Given the description of an element on the screen output the (x, y) to click on. 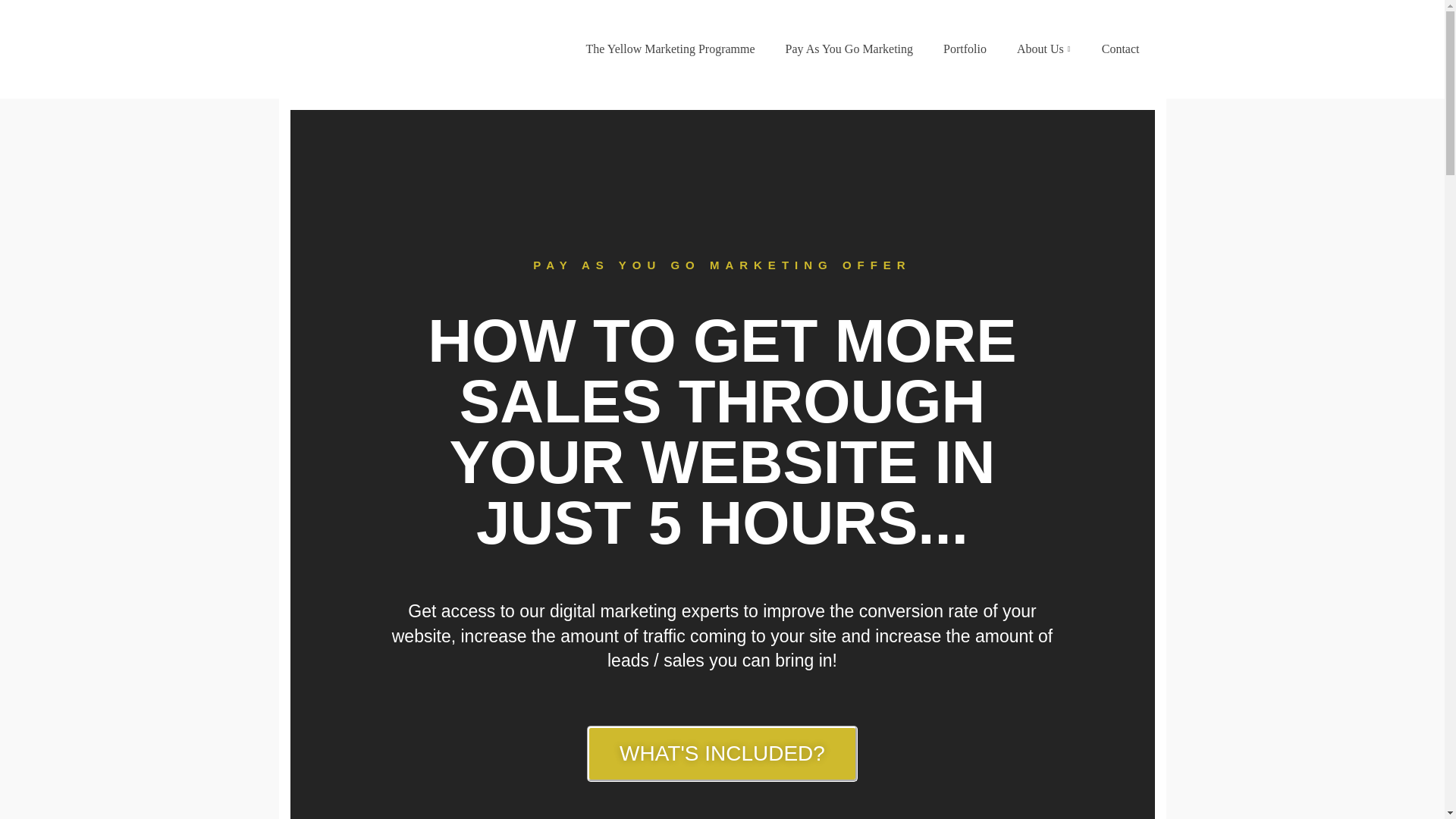
Pay As You Go Marketing (849, 49)
WHAT'S INCLUDED? (721, 753)
The Yellow Marketing Programme (670, 49)
